Given the description of an element on the screen output the (x, y) to click on. 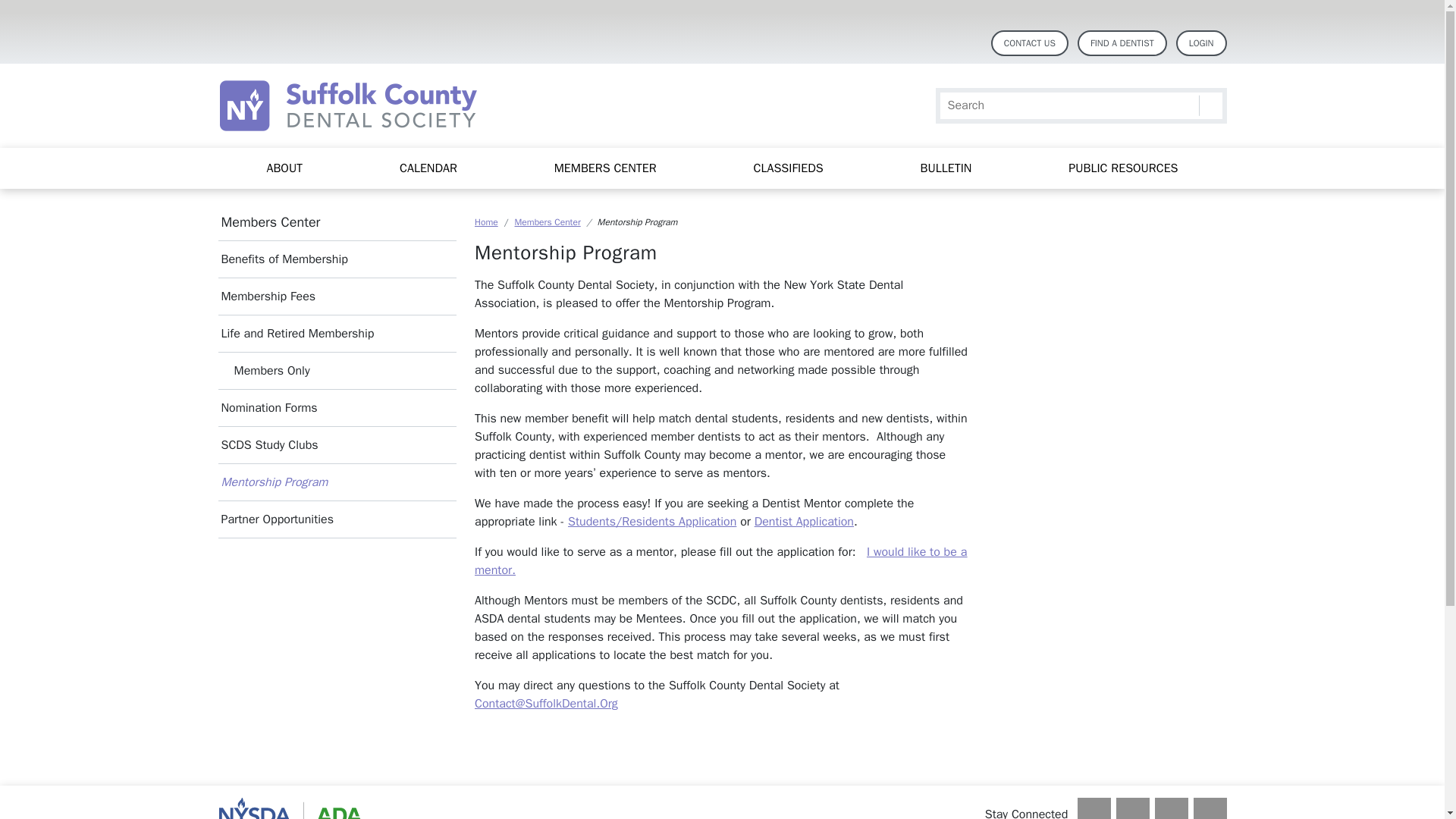
CALENDAR (427, 167)
CONTACT US (1029, 43)
FIND A DENTIST (1122, 43)
Search input (1081, 105)
LOGIN (1201, 43)
CLASSIFIEDS (788, 167)
MEMBERS CENTER (604, 167)
PUBLIC RESOURCES (1123, 167)
BULLETIN (946, 167)
ABOUT (283, 167)
